Given the description of an element on the screen output the (x, y) to click on. 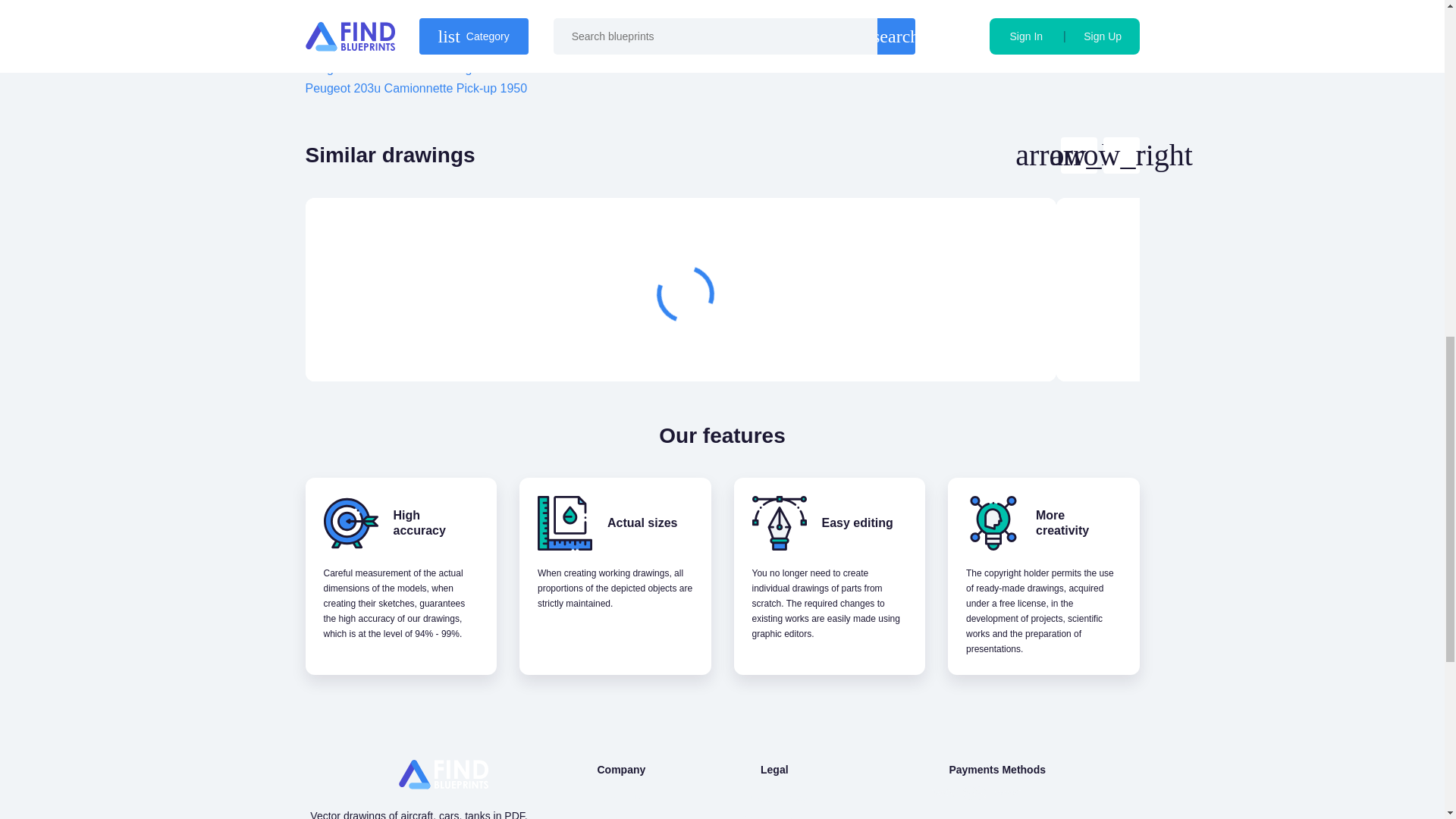
Peugeot 203u Camionnette Pick-up 1950 (415, 88)
More (962, 344)
Peugeot 203u Ambulence Wagon 1950 (409, 68)
